Given the description of an element on the screen output the (x, y) to click on. 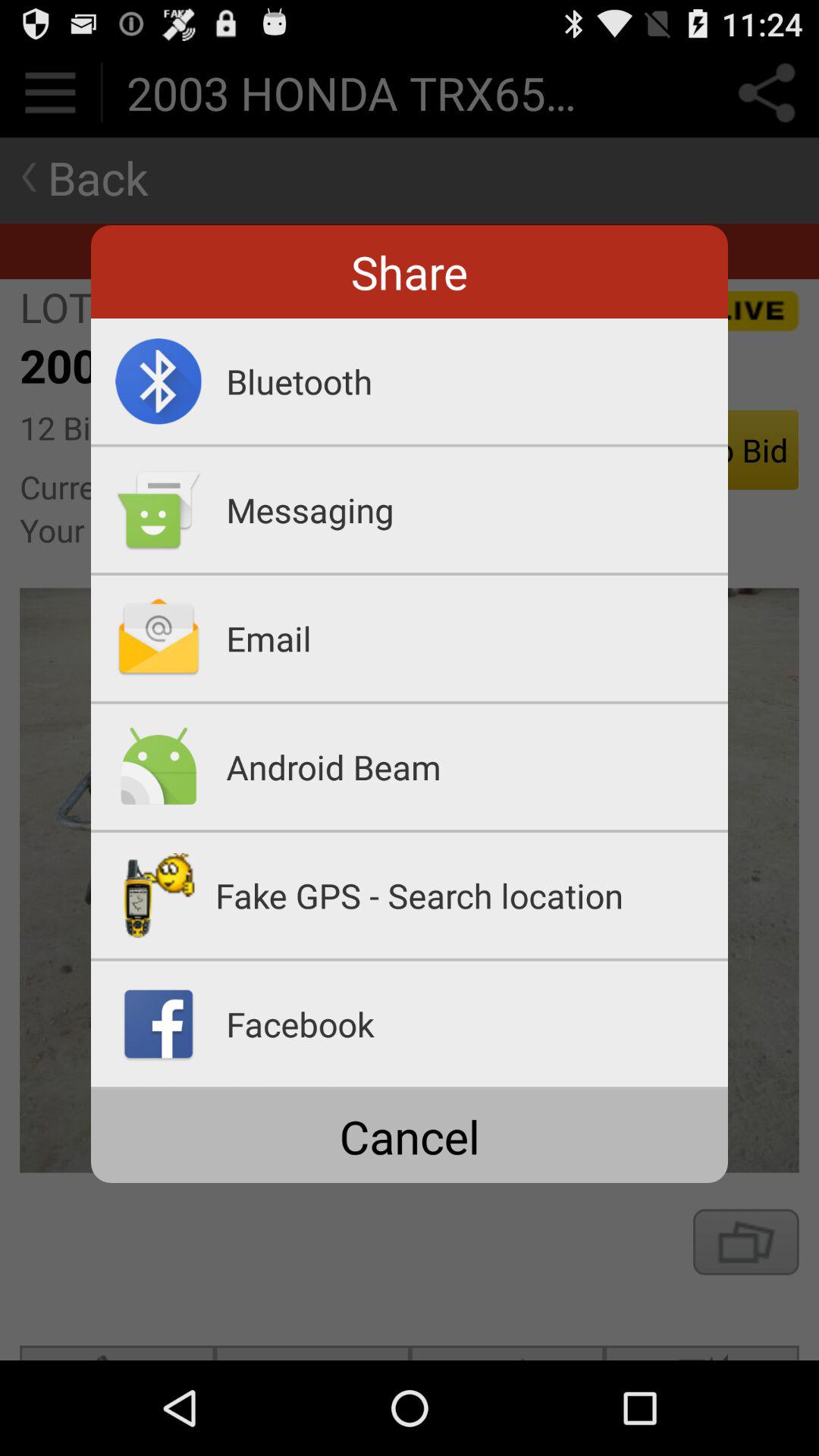
flip until bluetooth app (477, 381)
